Given the description of an element on the screen output the (x, y) to click on. 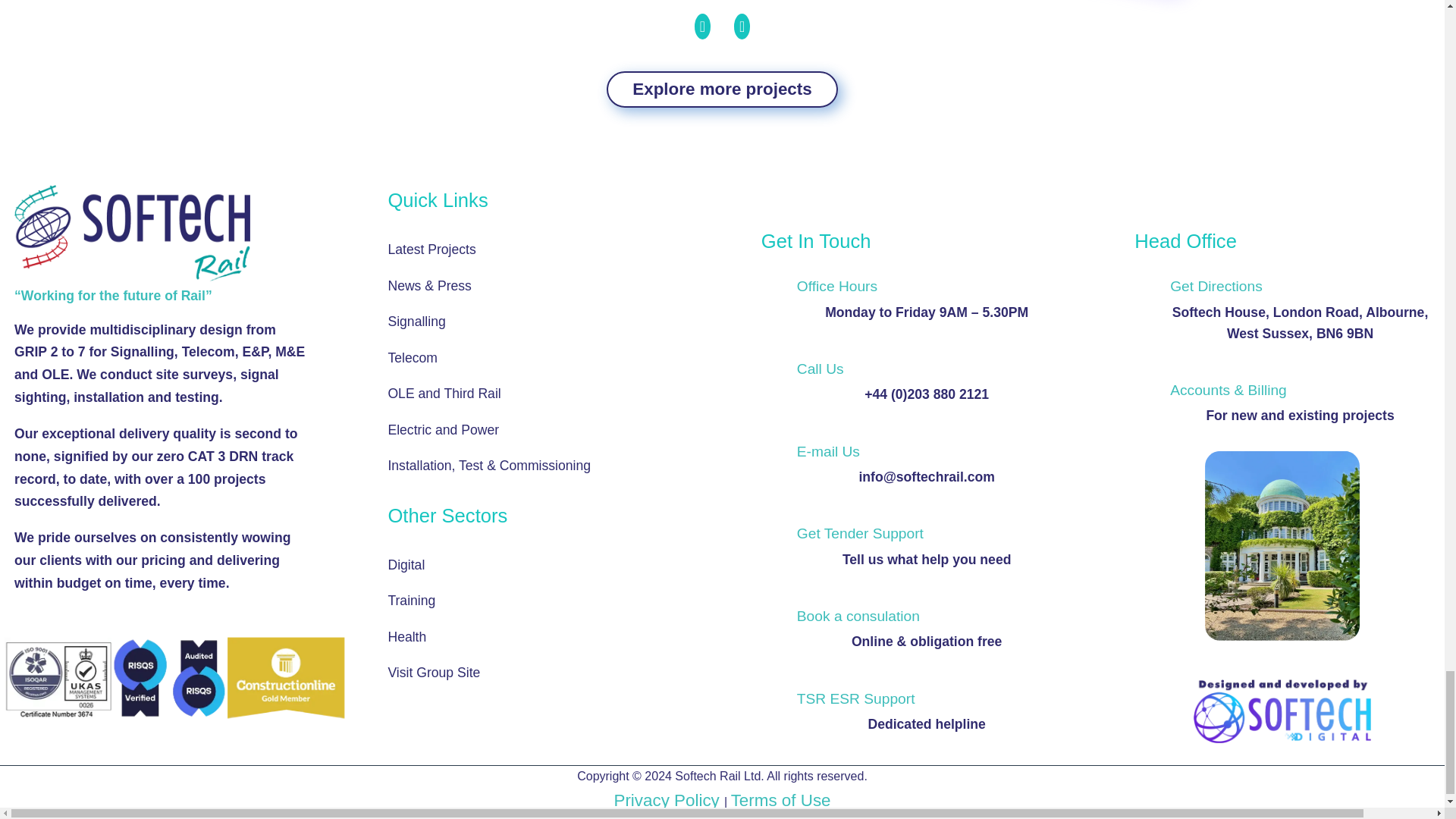
Designed and Developed by Softech Digital copy (1324, 732)
Softech Rail Logo (132, 232)
Softech-Rail-Accreditations (151, 673)
